Given the description of an element on the screen output the (x, y) to click on. 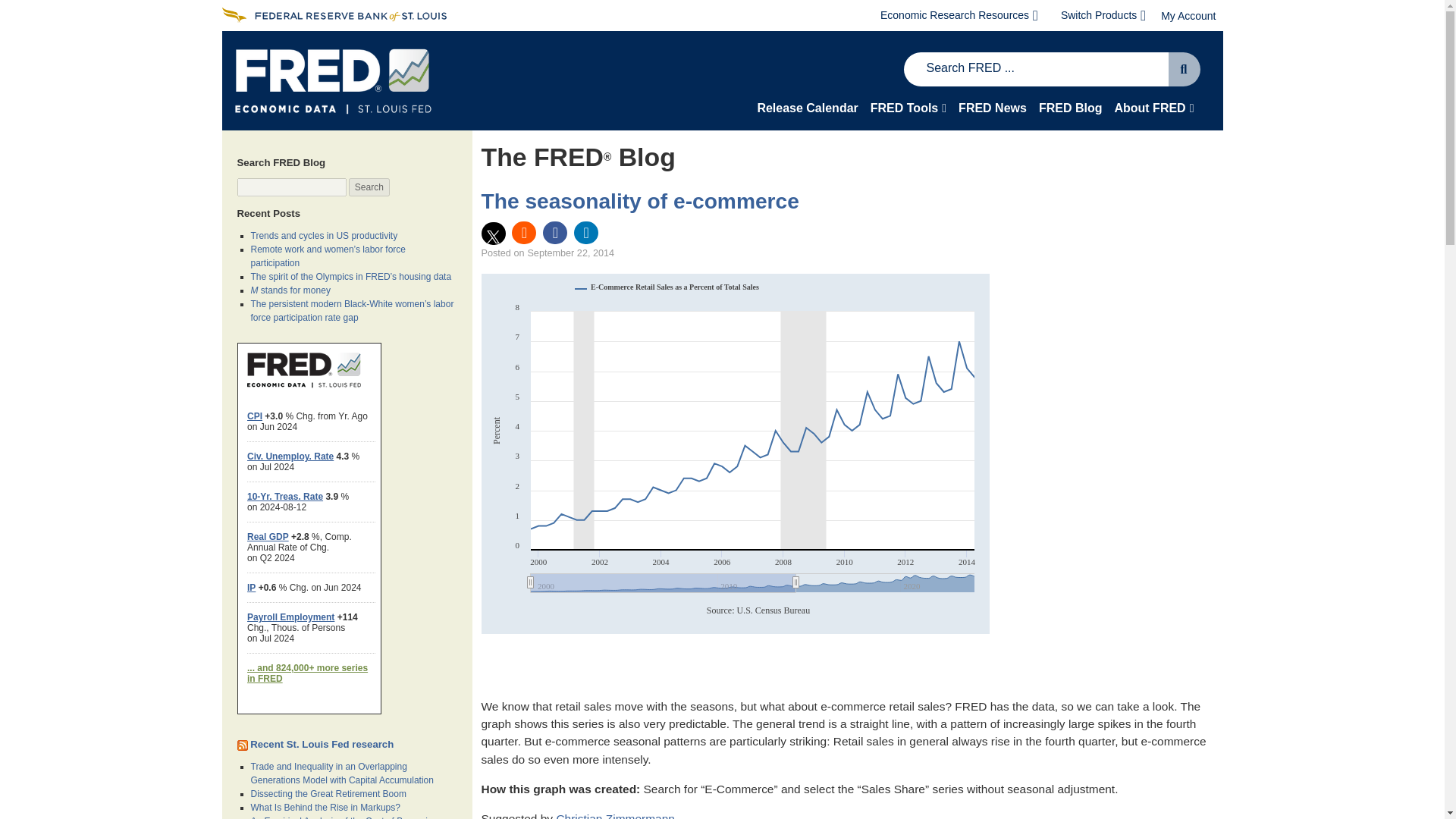
Search (369, 187)
8:00 am (570, 253)
My Account (1187, 15)
Permalink to The seasonality of e-commerce (638, 200)
